Given the description of an element on the screen output the (x, y) to click on. 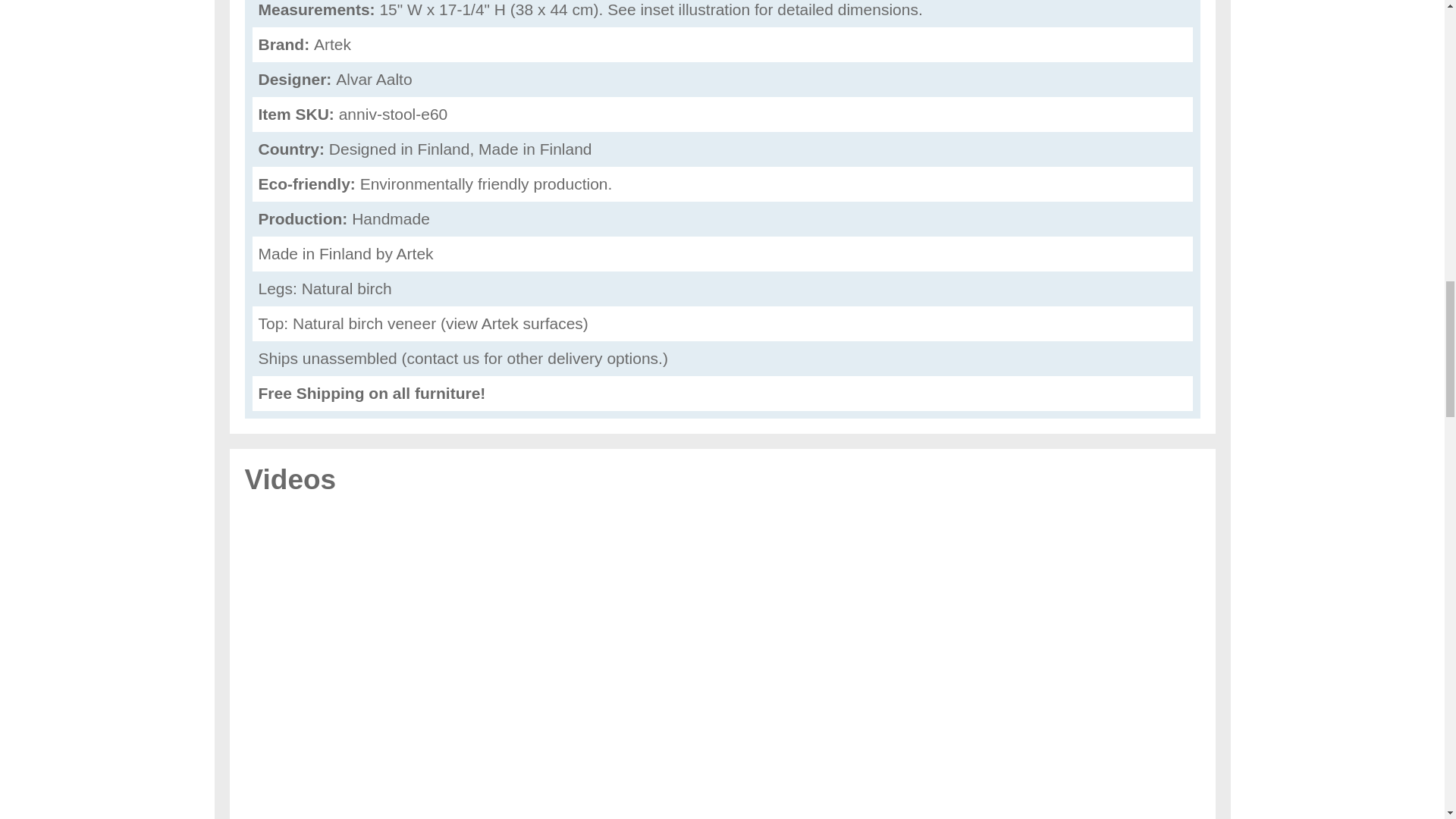
Alvar Aalto (374, 78)
Artek surfaces (532, 323)
